Given the description of an element on the screen output the (x, y) to click on. 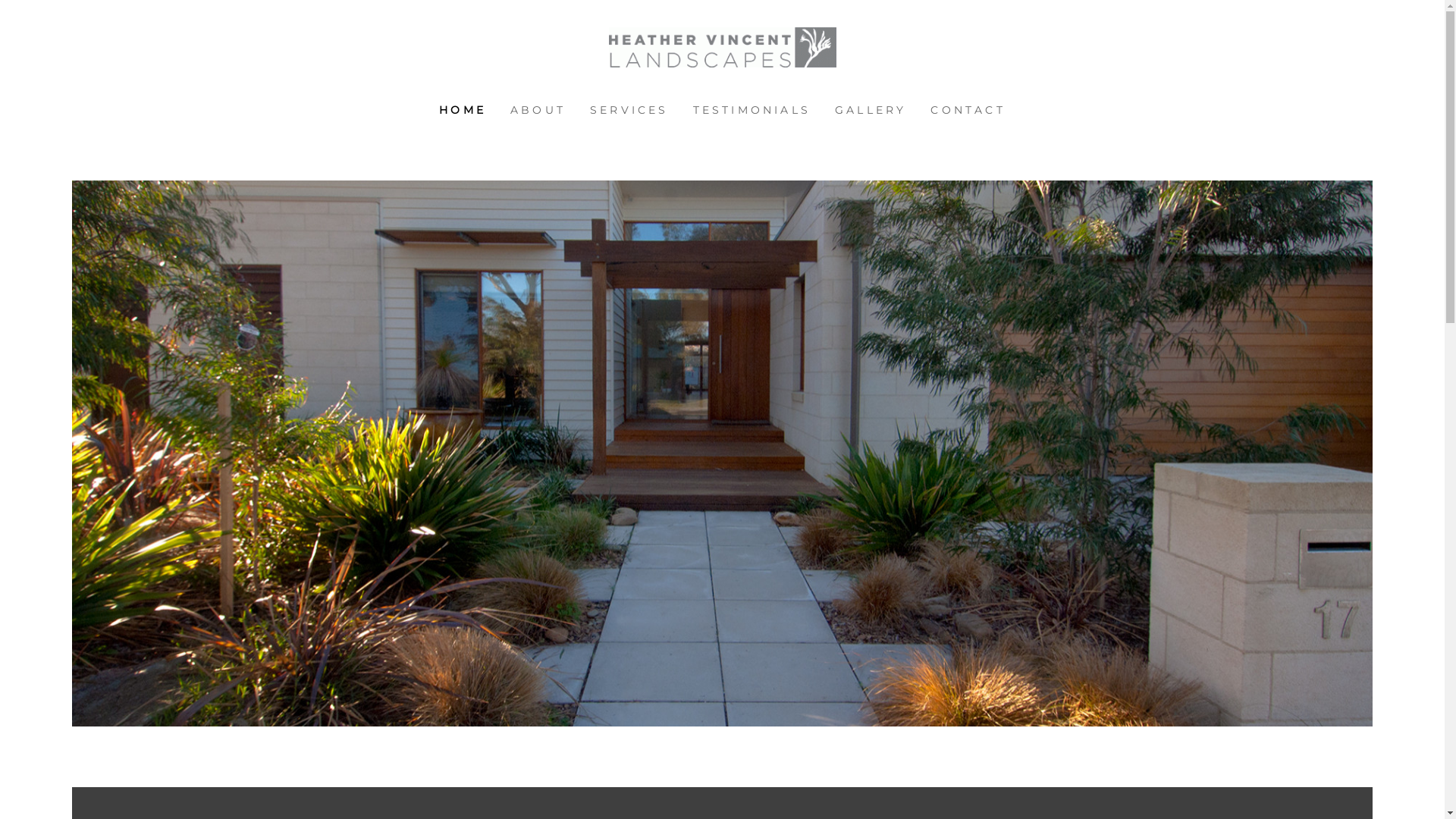
SERVICES Element type: text (628, 109)
CONTACT Element type: text (967, 109)
Skip to main content Element type: text (12, 12)
HOME Element type: text (462, 109)
ABOUT Element type: text (537, 109)
TESTIMONIALS Element type: text (751, 109)
GALLERY Element type: text (870, 109)
